Given the description of an element on the screen output the (x, y) to click on. 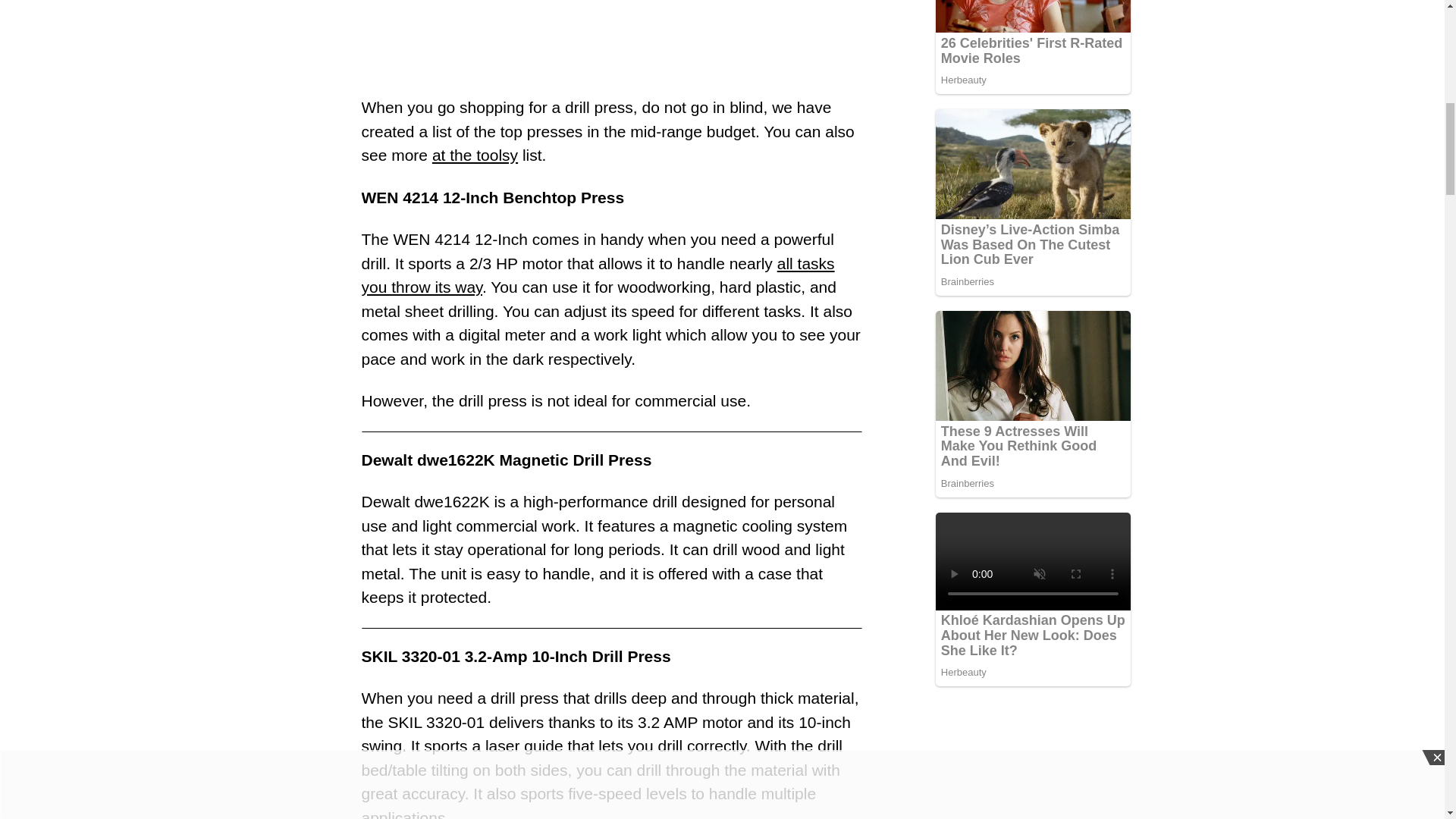
at the toolsy (475, 154)
These 9 Actresses Will Make You Rethink Good And Evil! (1018, 446)
26 Celebrities' First R-Rated Movie Roles (1031, 51)
Herbeauty (1032, 79)
Brainberries (1032, 281)
all tasks you throw its way (597, 275)
